Given the description of an element on the screen output the (x, y) to click on. 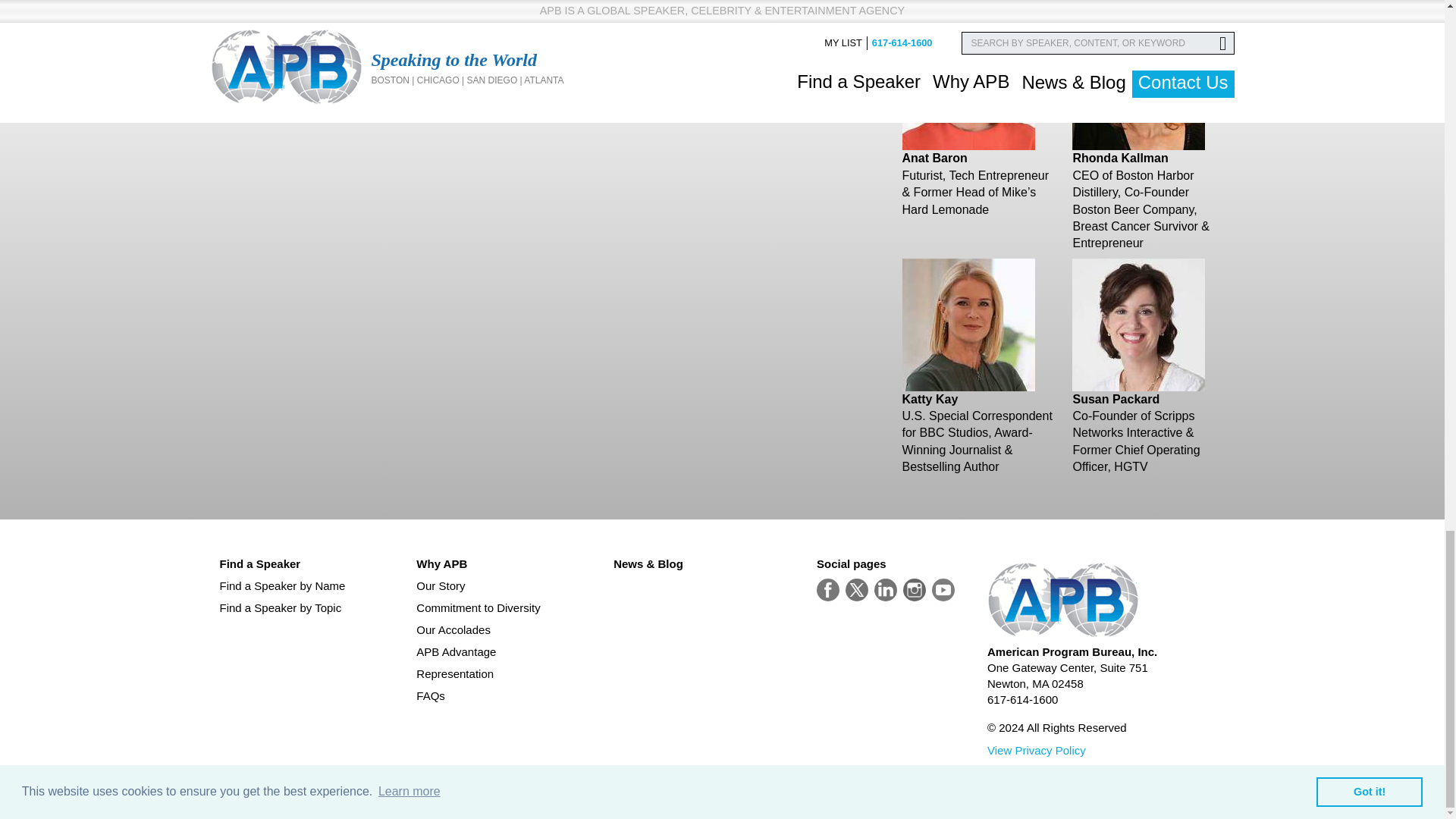
Our Accolades (508, 629)
Susan Packard (1114, 399)
Anat Baron (935, 157)
Privacy Policy (1036, 749)
Commitment to Diversity (508, 607)
Our Story (508, 585)
Find a Speaker by Topic (311, 607)
Rhonda Kallman (1119, 157)
Katty Kay (930, 399)
Find a Speaker by Name (311, 585)
